Given the description of an element on the screen output the (x, y) to click on. 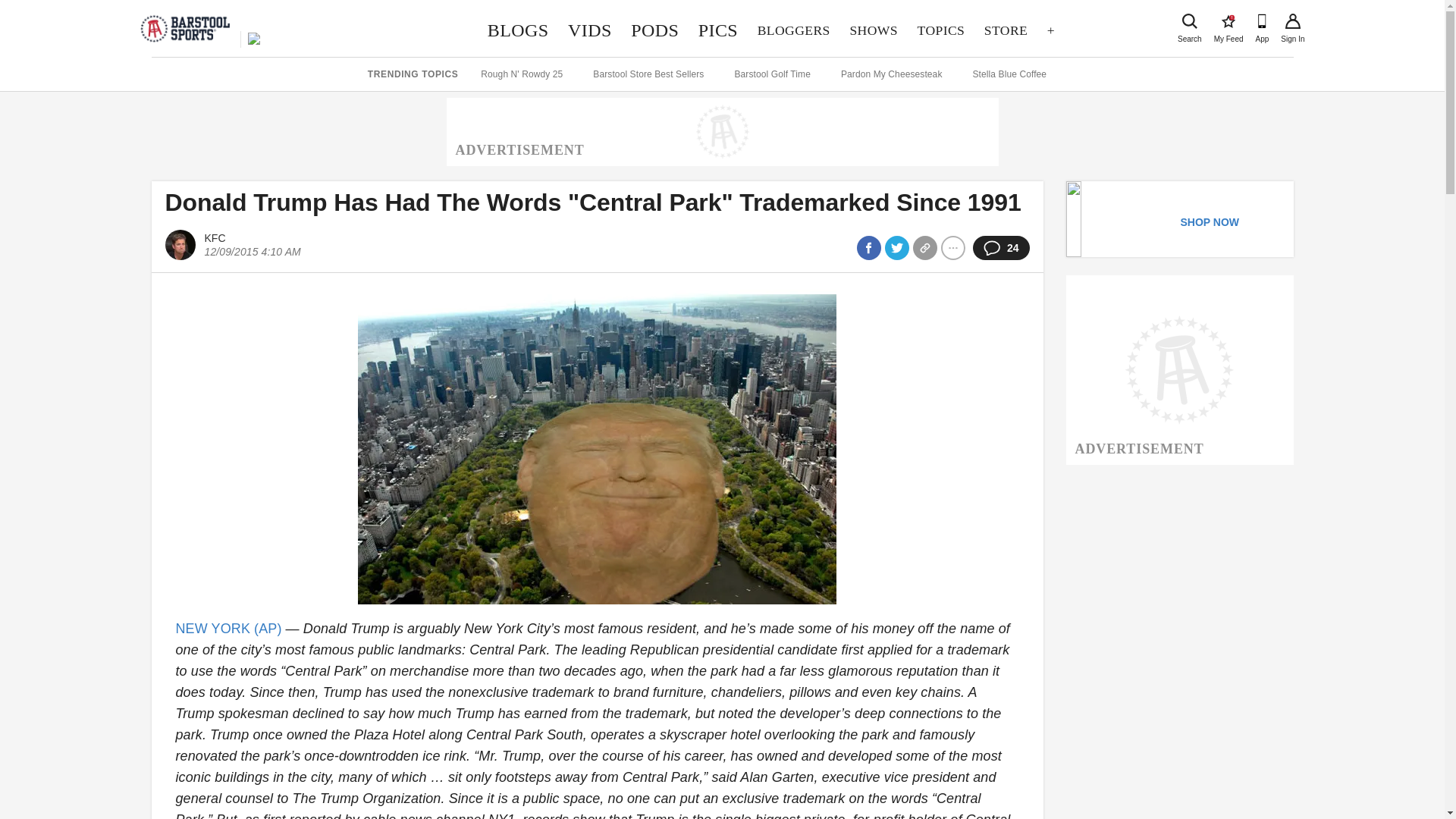
Sign Up (1292, 20)
BLOGS (517, 30)
VIDS (589, 30)
SHOWS (1228, 20)
STORE (873, 30)
BLOGGERS (1005, 30)
Search (794, 30)
PODS (1189, 20)
TOPICS (654, 30)
PICS (940, 30)
